Given the description of an element on the screen output the (x, y) to click on. 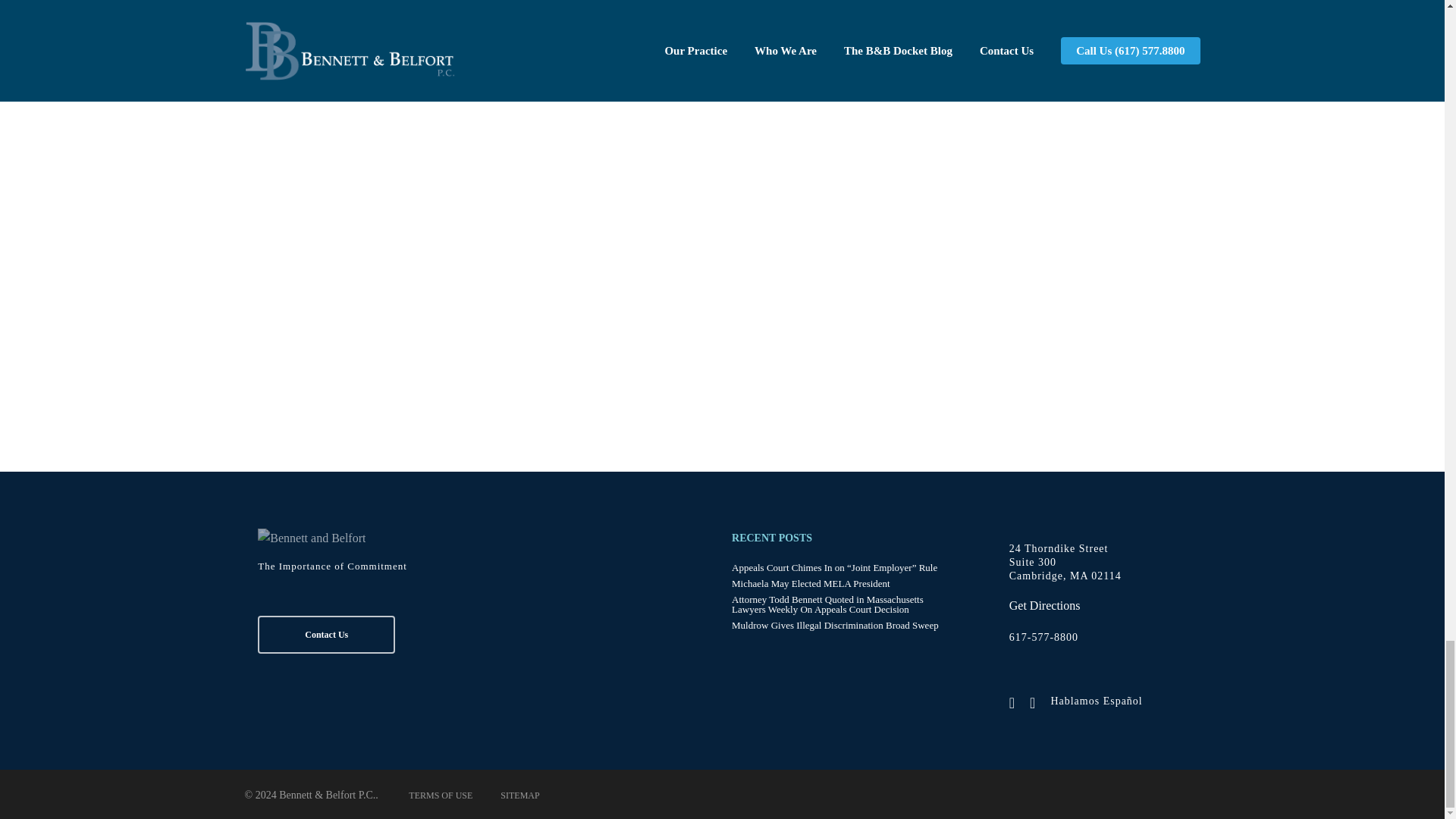
617-577-8800 (1043, 636)
Muldrow Gives Illegal Discrimination Broad Sweep (844, 624)
Michaela May Elected MELA President (844, 583)
Contact Us (325, 634)
Get Directions (1044, 605)
